Given the description of an element on the screen output the (x, y) to click on. 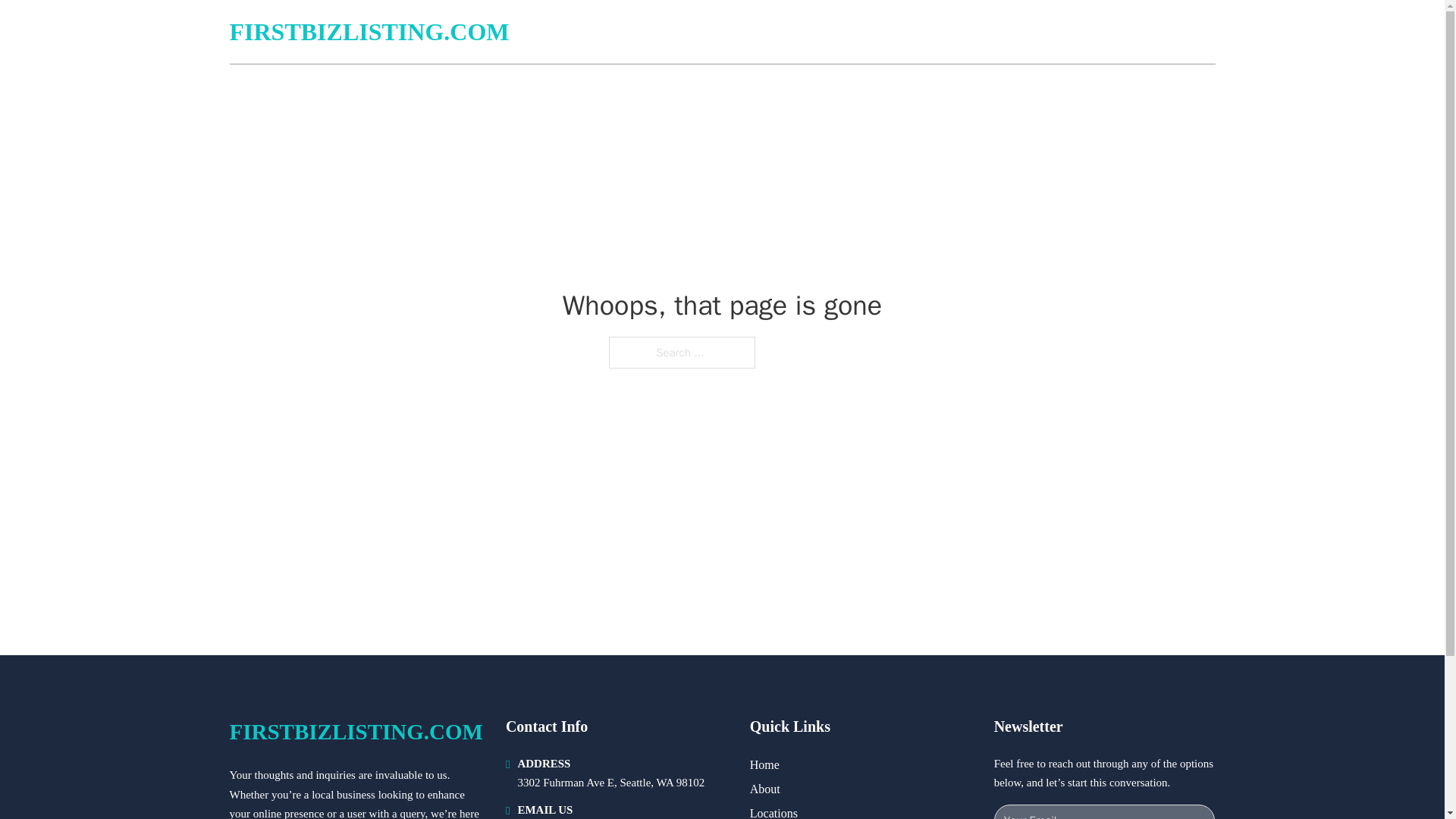
Locations (773, 811)
Home (763, 764)
LOCATIONS (1105, 31)
HOME (1032, 31)
FIRSTBIZLISTING.COM (368, 31)
FIRSTBIZLISTING.COM (354, 732)
About (764, 788)
